Given the description of an element on the screen output the (x, y) to click on. 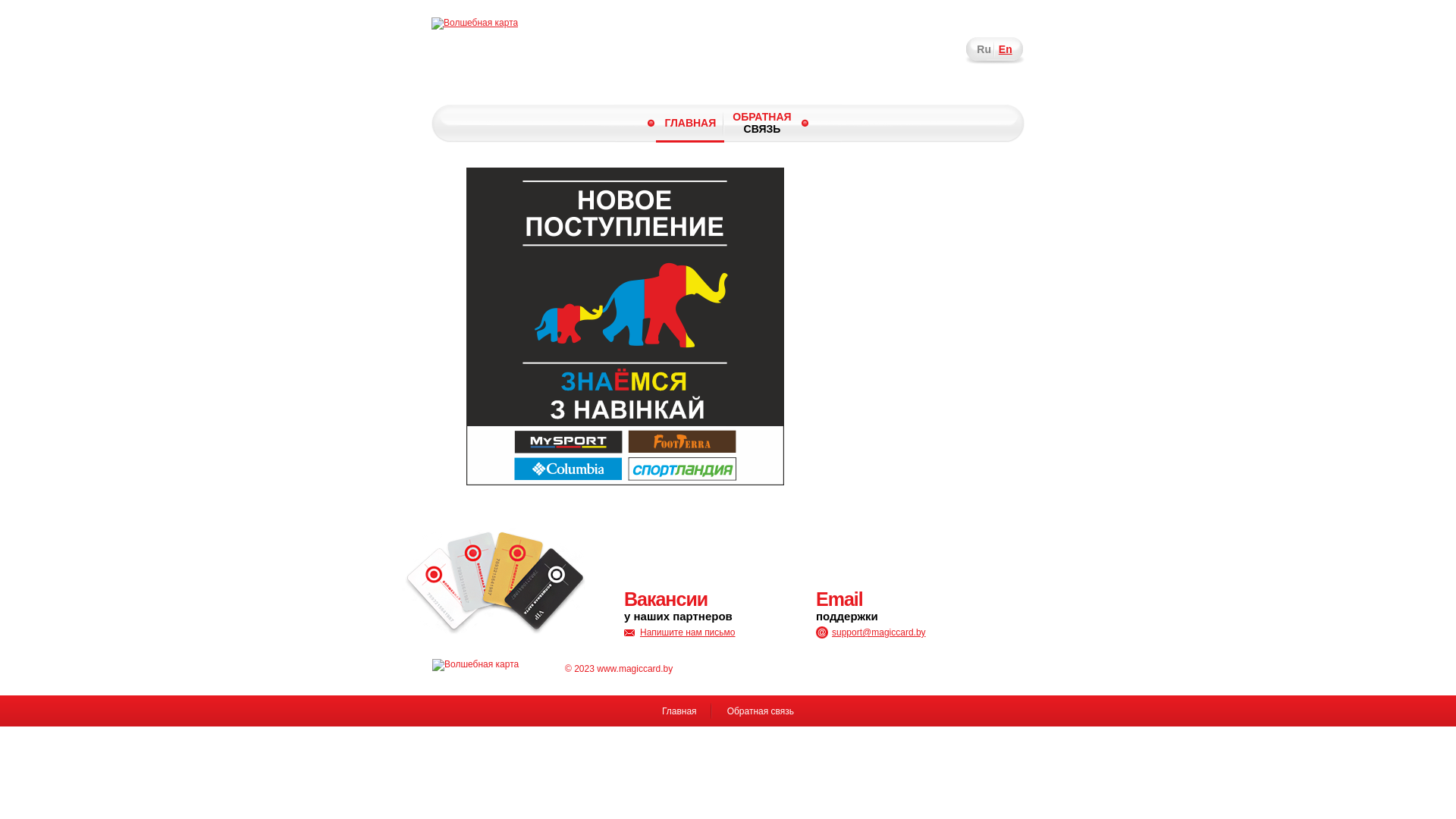
En Element type: text (1005, 49)
www.magiccard.by Element type: text (634, 668)
support@magiccard.by Element type: text (870, 632)
